Given the description of an element on the screen output the (x, y) to click on. 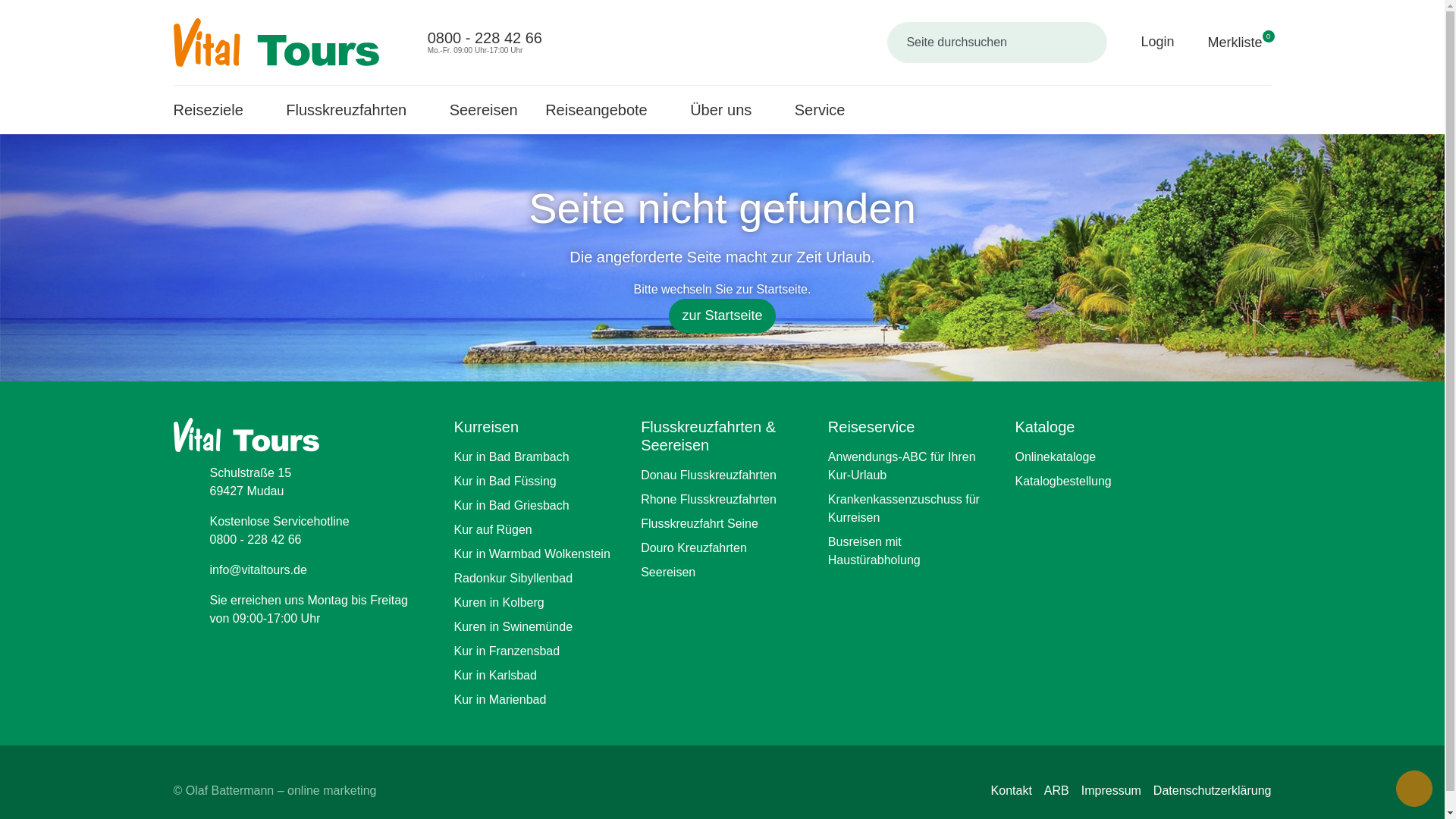
Seereisen (483, 109)
Login (1146, 41)
Flusskreuzfahrten (353, 109)
Flusskreuzfahrten (1228, 42)
Reiseziele (353, 109)
Reiseziele (215, 109)
Reiseangebote (215, 109)
